Given the description of an element on the screen output the (x, y) to click on. 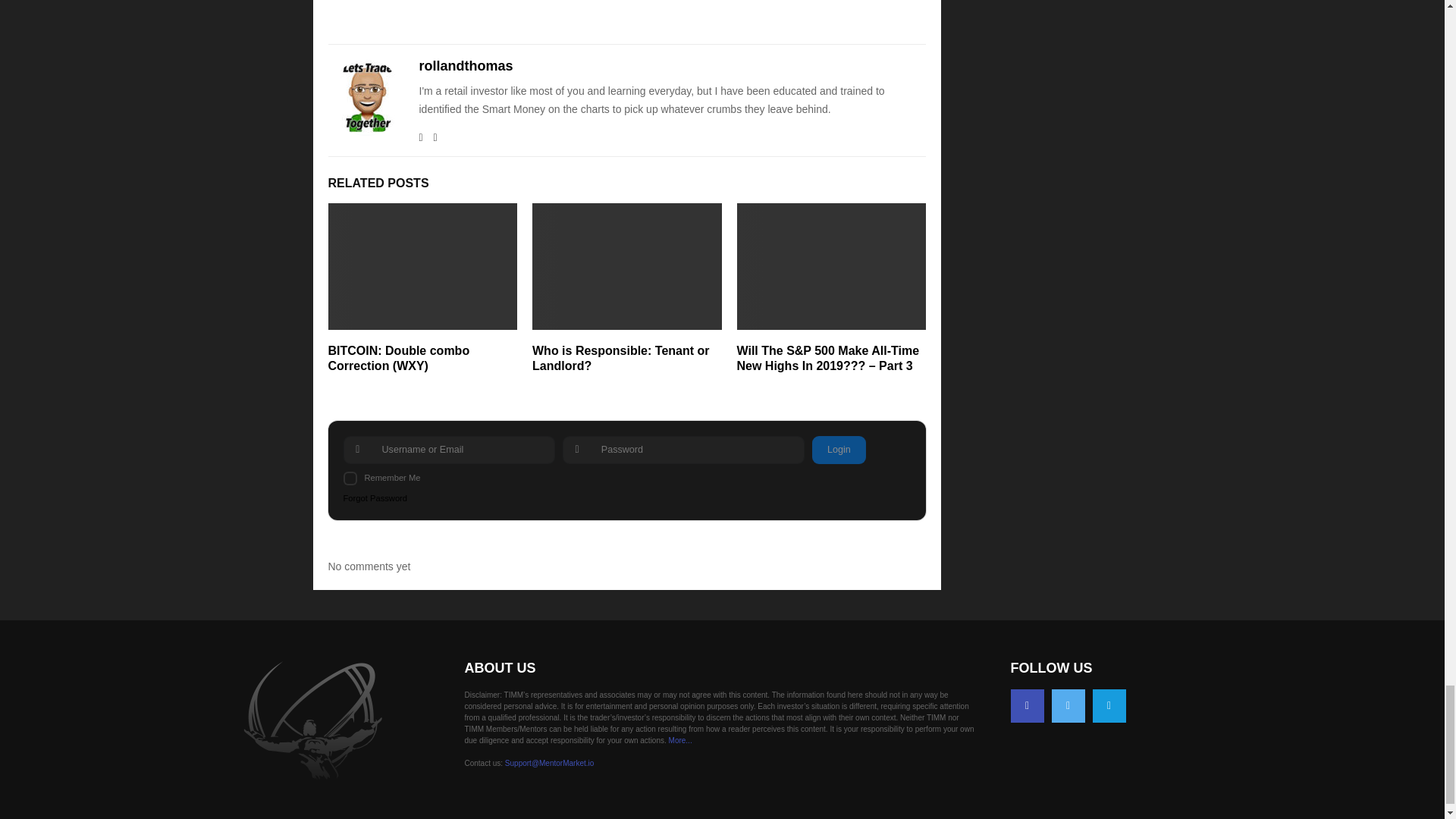
Twitter (1067, 705)
Telegram (1108, 705)
Facebook (1026, 705)
Posts by rollandthomas (465, 66)
